Given the description of an element on the screen output the (x, y) to click on. 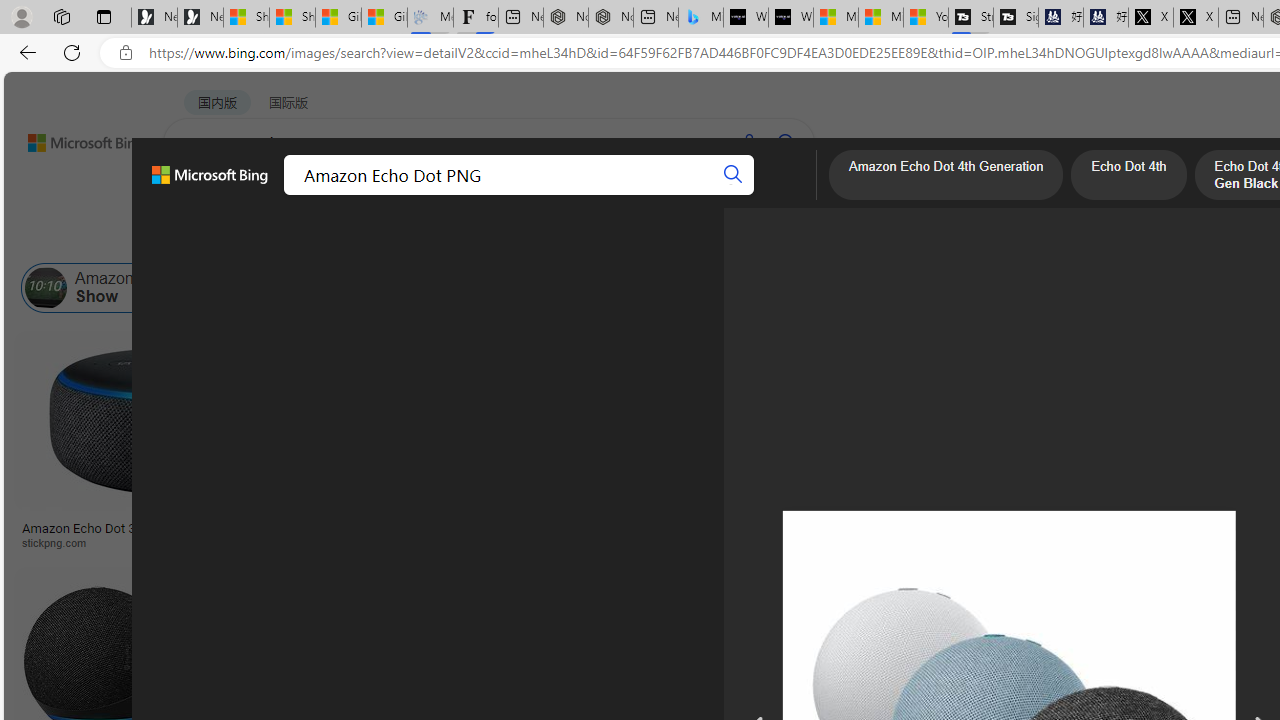
Back to Bing search (73, 138)
License (664, 237)
Amazon Echo Dot 4th Gen (995, 400)
Amazon Echo Dot 4th Gen (995, 400)
ACADEMIC (548, 195)
FrAndroid (800, 542)
Type (372, 237)
Date (591, 237)
